Given the description of an element on the screen output the (x, y) to click on. 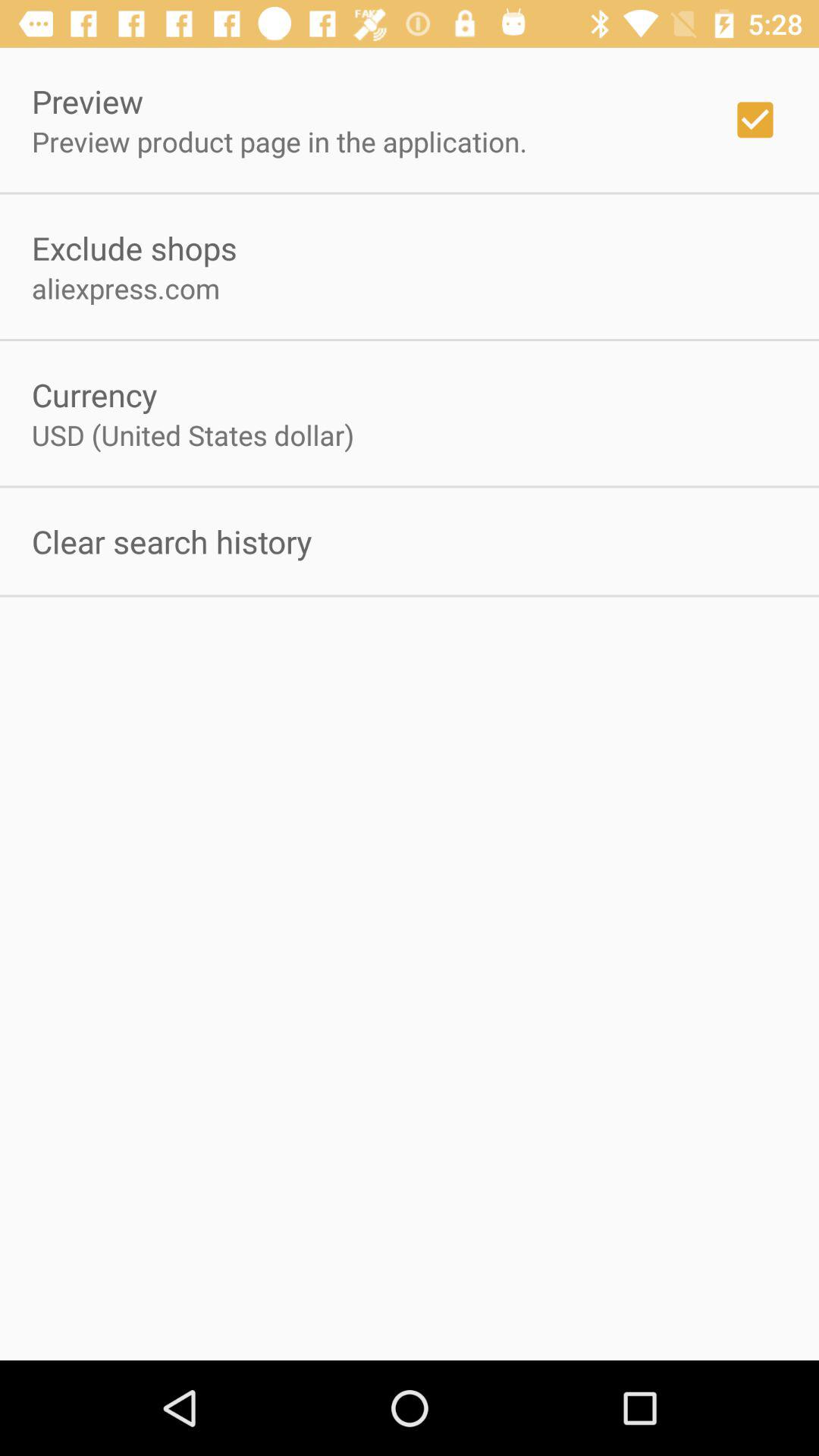
turn on preview product page icon (279, 141)
